Given the description of an element on the screen output the (x, y) to click on. 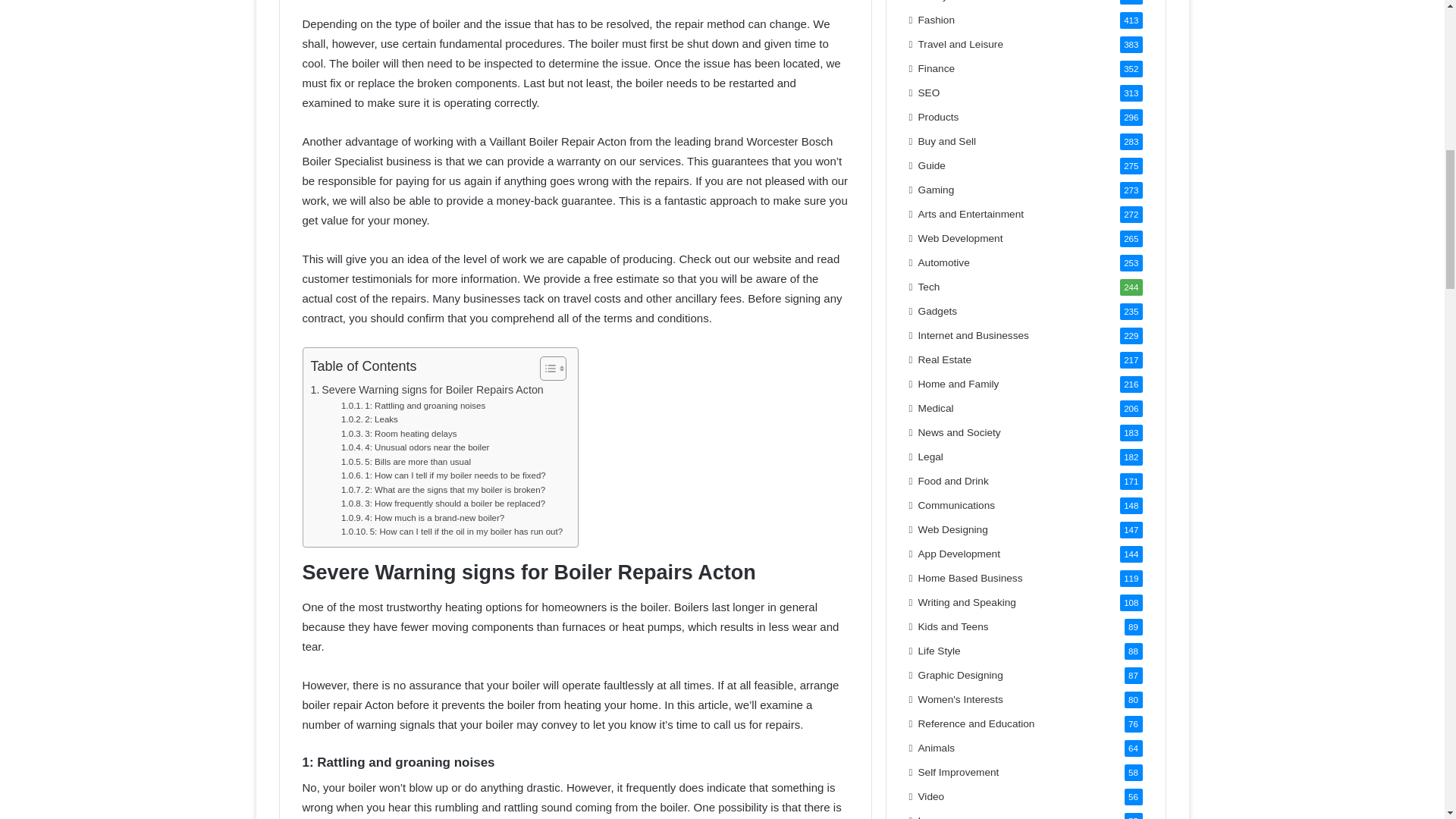
2: What are the signs that my boiler is broken? (442, 489)
3: Room heating delays (398, 433)
5: Bills are more than usual (405, 461)
2: Leaks (368, 418)
5: How can I tell if the oil in my boiler has run out? (451, 531)
4: Unusual odors near the boiler (414, 447)
Severe Warning signs for Boiler Repairs Acton (427, 389)
4: Unusual odors near the boiler (414, 447)
5: Bills are more than usual (405, 461)
Severe Warning signs for Boiler Repairs Acton (427, 389)
